Given the description of an element on the screen output the (x, y) to click on. 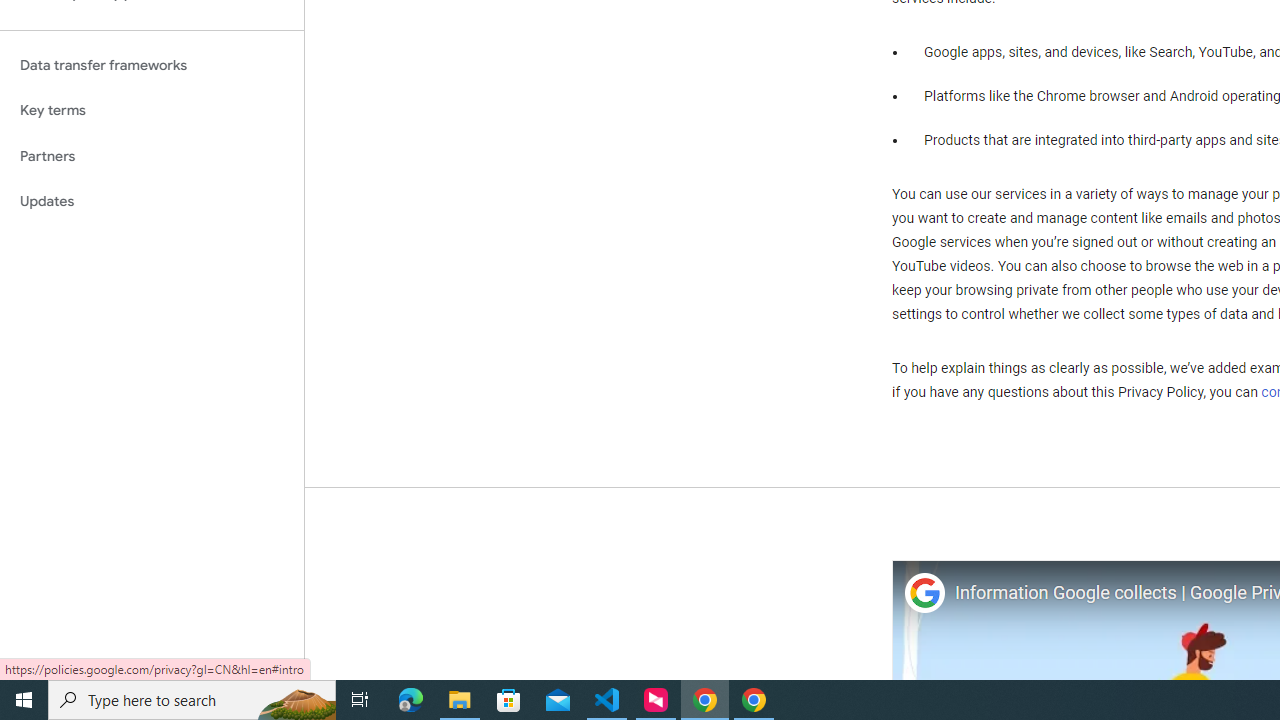
Photo image of Google (924, 593)
